Given the description of an element on the screen output the (x, y) to click on. 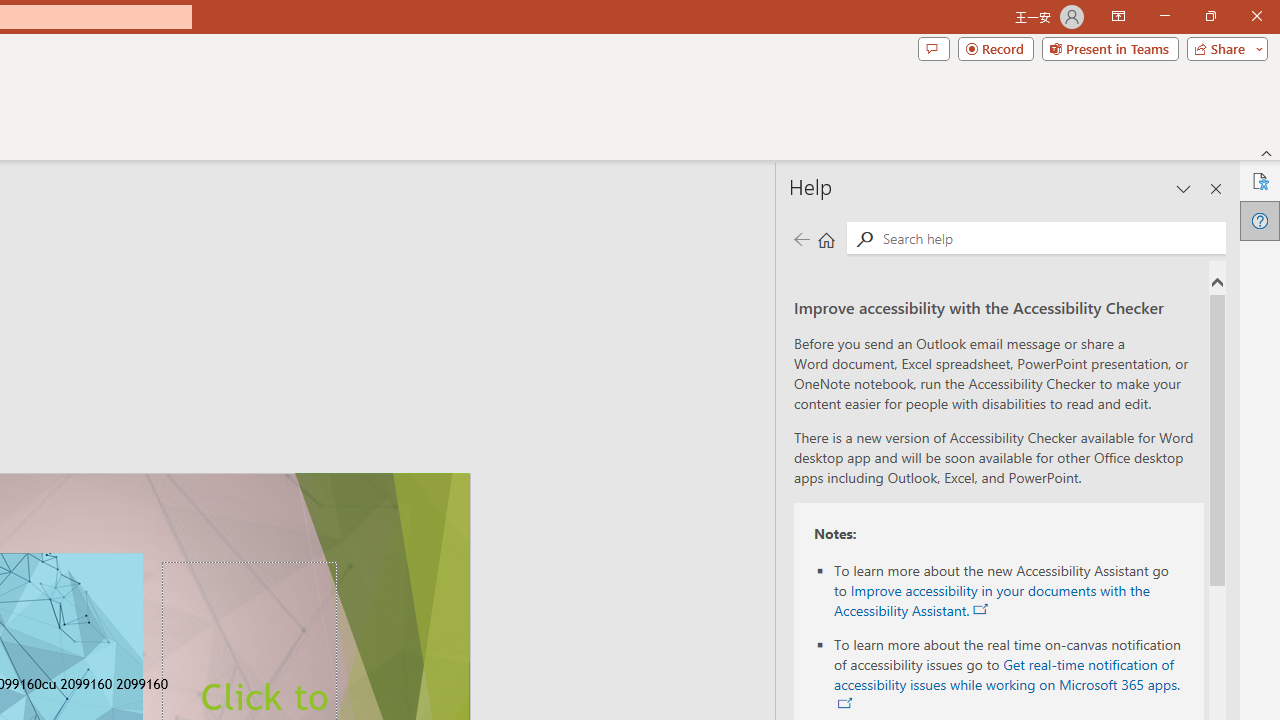
Search (864, 238)
Search (1049, 237)
